Given the description of an element on the screen output the (x, y) to click on. 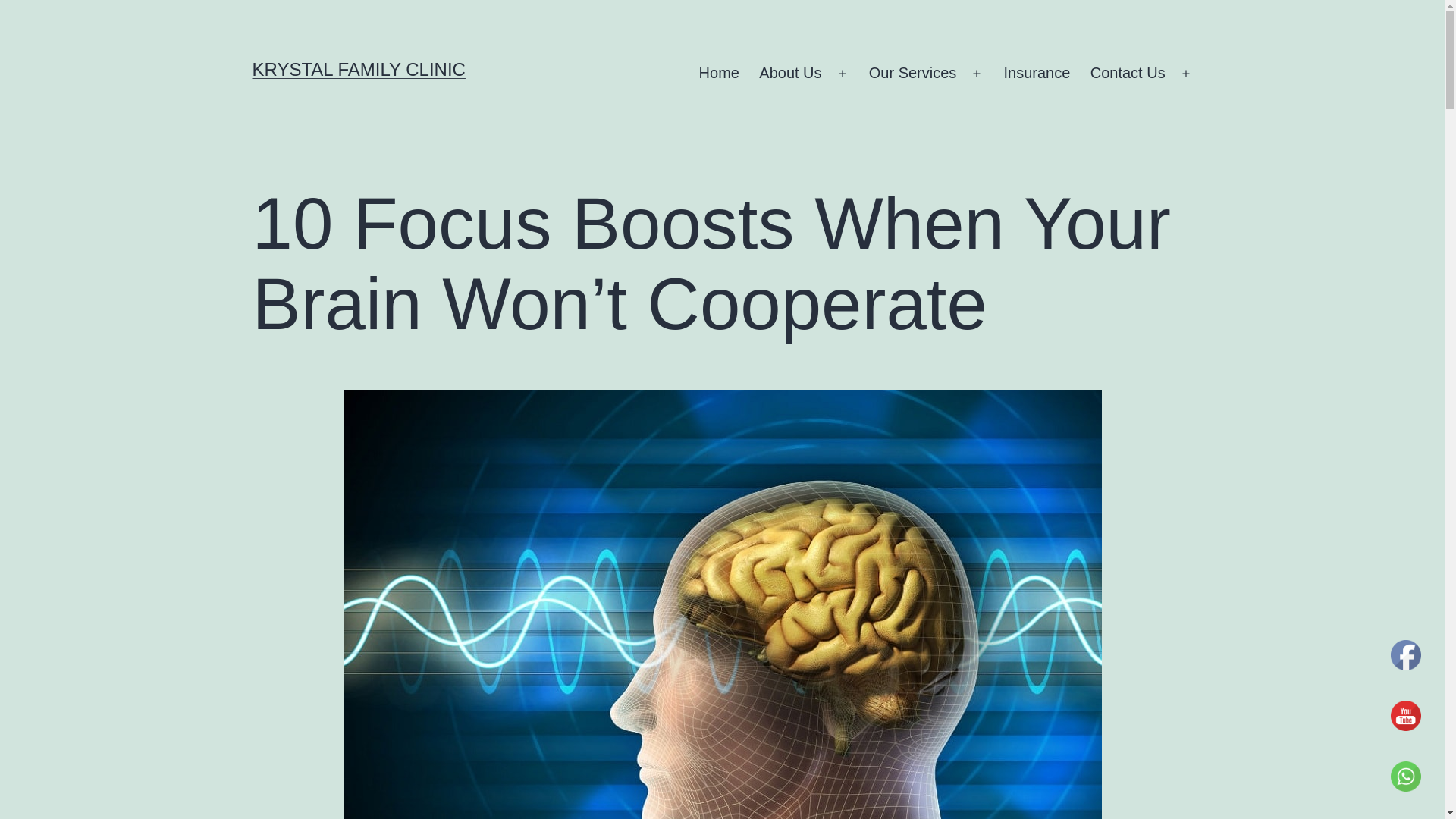
Contact Us (1127, 73)
Facebook (1405, 654)
KRYSTAL FAMILY CLINIC (357, 68)
Insurance (1036, 73)
Our Services (912, 73)
About Us (790, 73)
Home (718, 73)
WhatsApp (1405, 776)
